Given the description of an element on the screen output the (x, y) to click on. 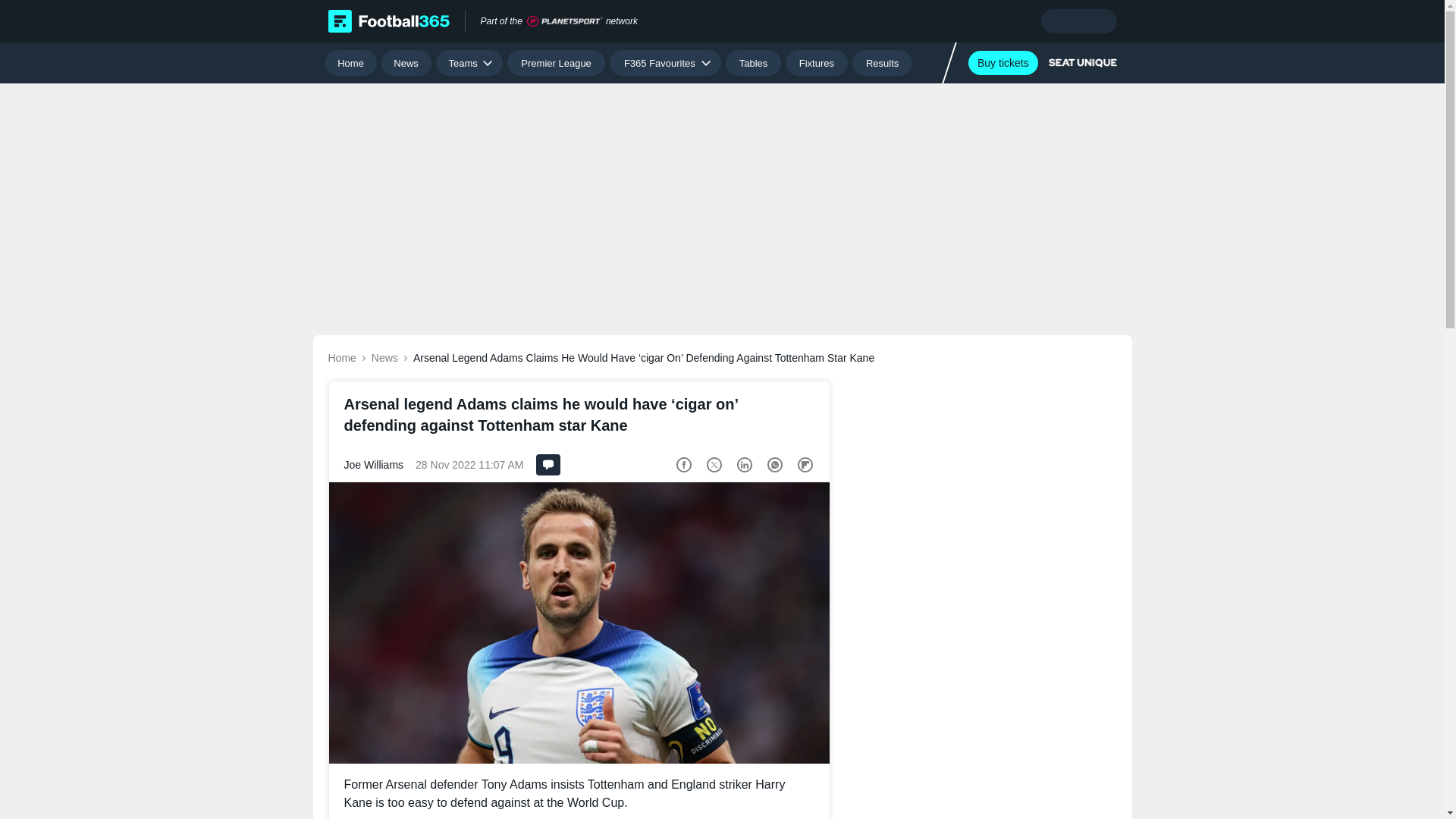
F365 Favourites (665, 62)
Teams (468, 62)
Home (349, 62)
Buy tickets (1003, 62)
News (405, 62)
Tables (752, 62)
Fixtures (817, 62)
Results (881, 62)
Premier League (555, 62)
